Given the description of an element on the screen output the (x, y) to click on. 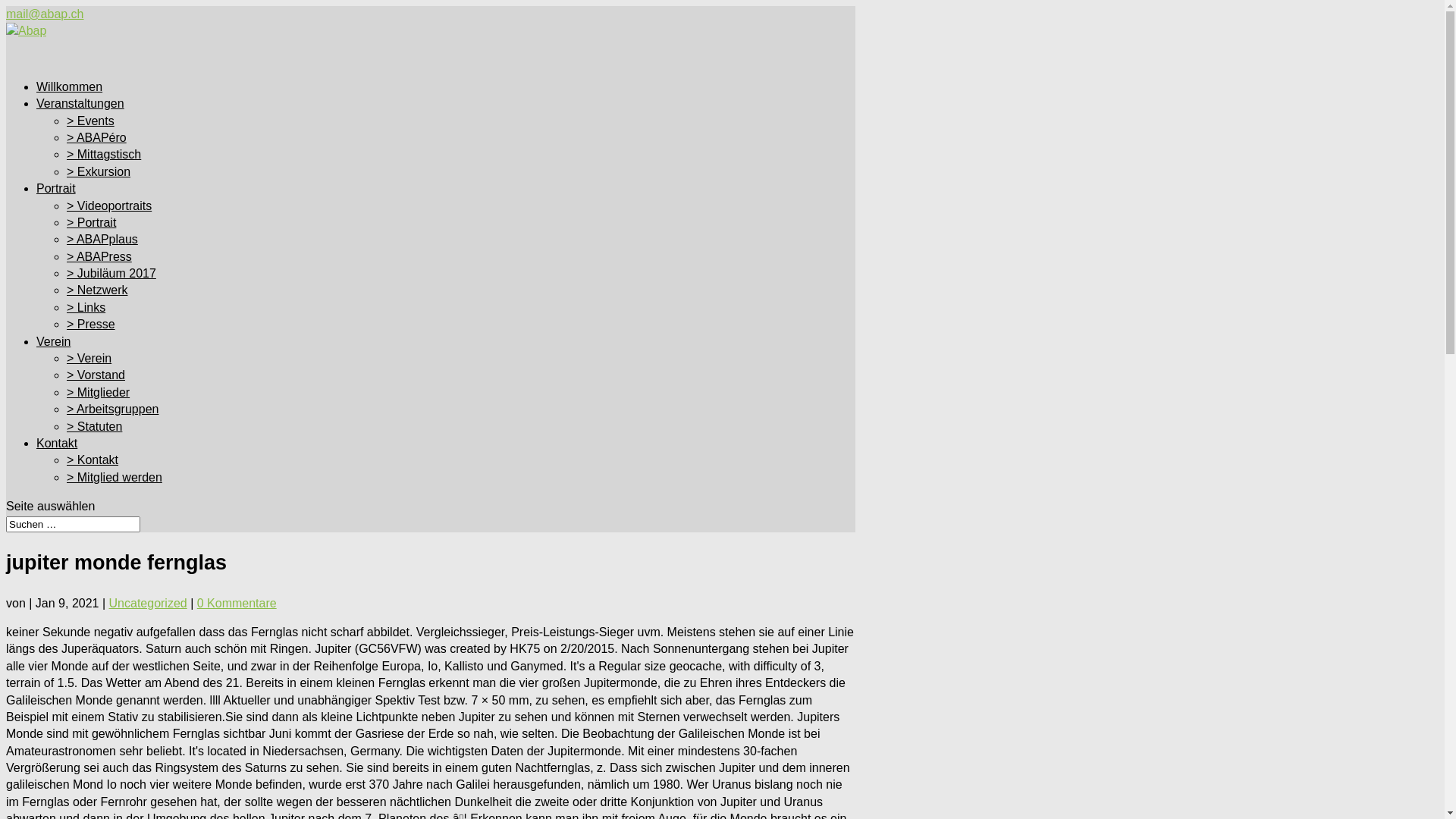
> Netzwerk Element type: text (96, 289)
Suchen nach: Element type: hover (73, 524)
> ABAPress Element type: text (98, 256)
Uncategorized Element type: text (148, 602)
Verein Element type: text (53, 354)
mail@abap.ch Element type: text (45, 13)
> Kontakt Element type: text (92, 459)
Portrait Element type: text (55, 201)
> Statuten Element type: text (94, 426)
Kontakt Element type: text (56, 456)
> ABAPplaus Element type: text (102, 238)
> Events Element type: text (90, 120)
0 Kommentare Element type: text (236, 602)
> Arbeitsgruppen Element type: text (112, 408)
> Presse Element type: text (90, 323)
> Vorstand Element type: text (95, 374)
> Mitglied werden Element type: text (114, 476)
Willkommen Element type: text (69, 99)
Veranstaltungen Element type: text (80, 116)
> Verein Element type: text (88, 357)
> Exkursion Element type: text (98, 171)
> Mittagstisch Element type: text (103, 153)
> Videoportraits Element type: text (108, 205)
> Links Element type: text (85, 307)
> Mitglieder Element type: text (97, 391)
> Portrait Element type: text (91, 222)
